Given the description of an element on the screen output the (x, y) to click on. 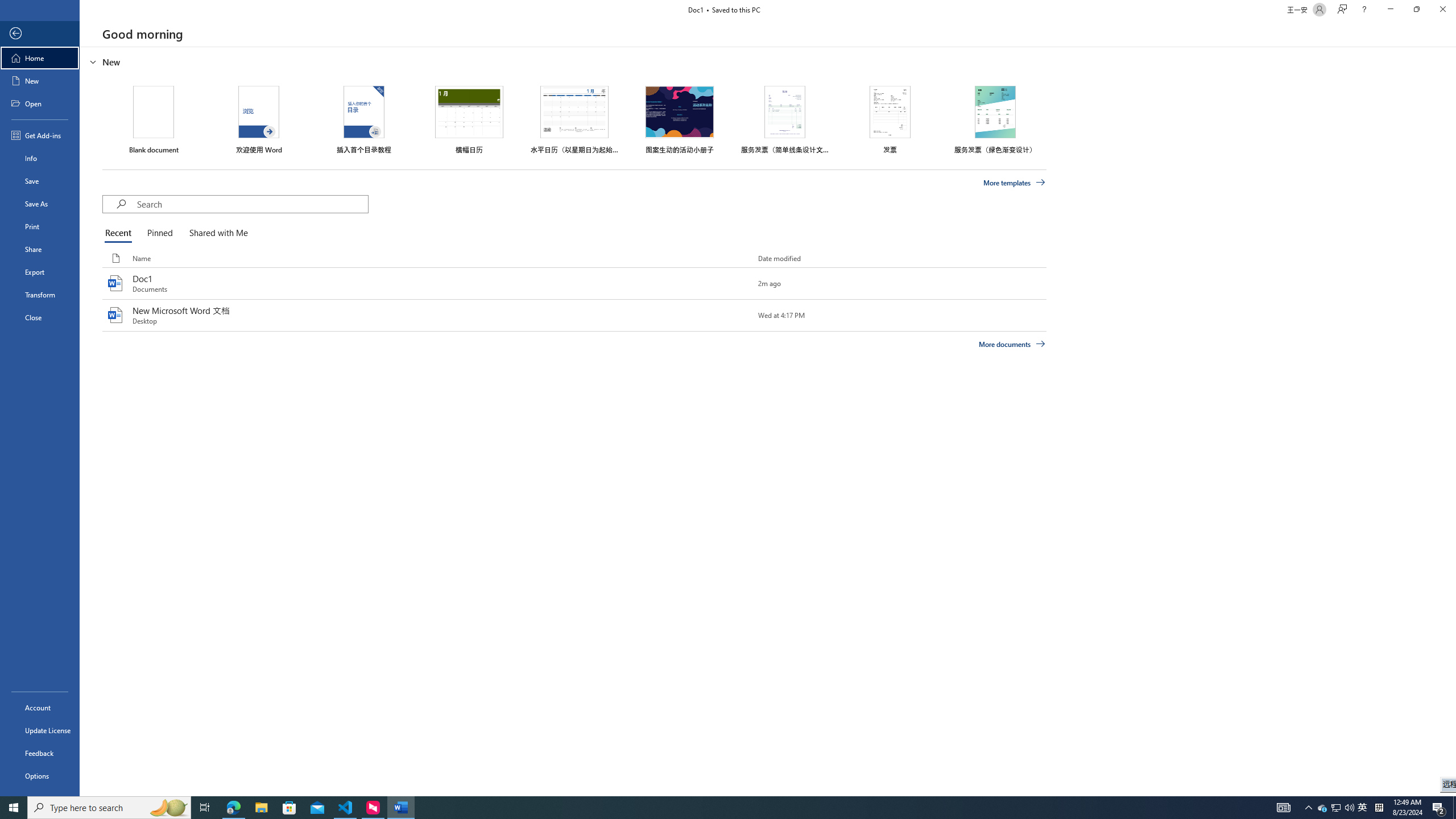
Pin this item to the list (739, 314)
Blank document (153, 119)
Hide or show region (92, 61)
Shared with Me (215, 233)
Transform (40, 294)
Export (40, 271)
